Given the description of an element on the screen output the (x, y) to click on. 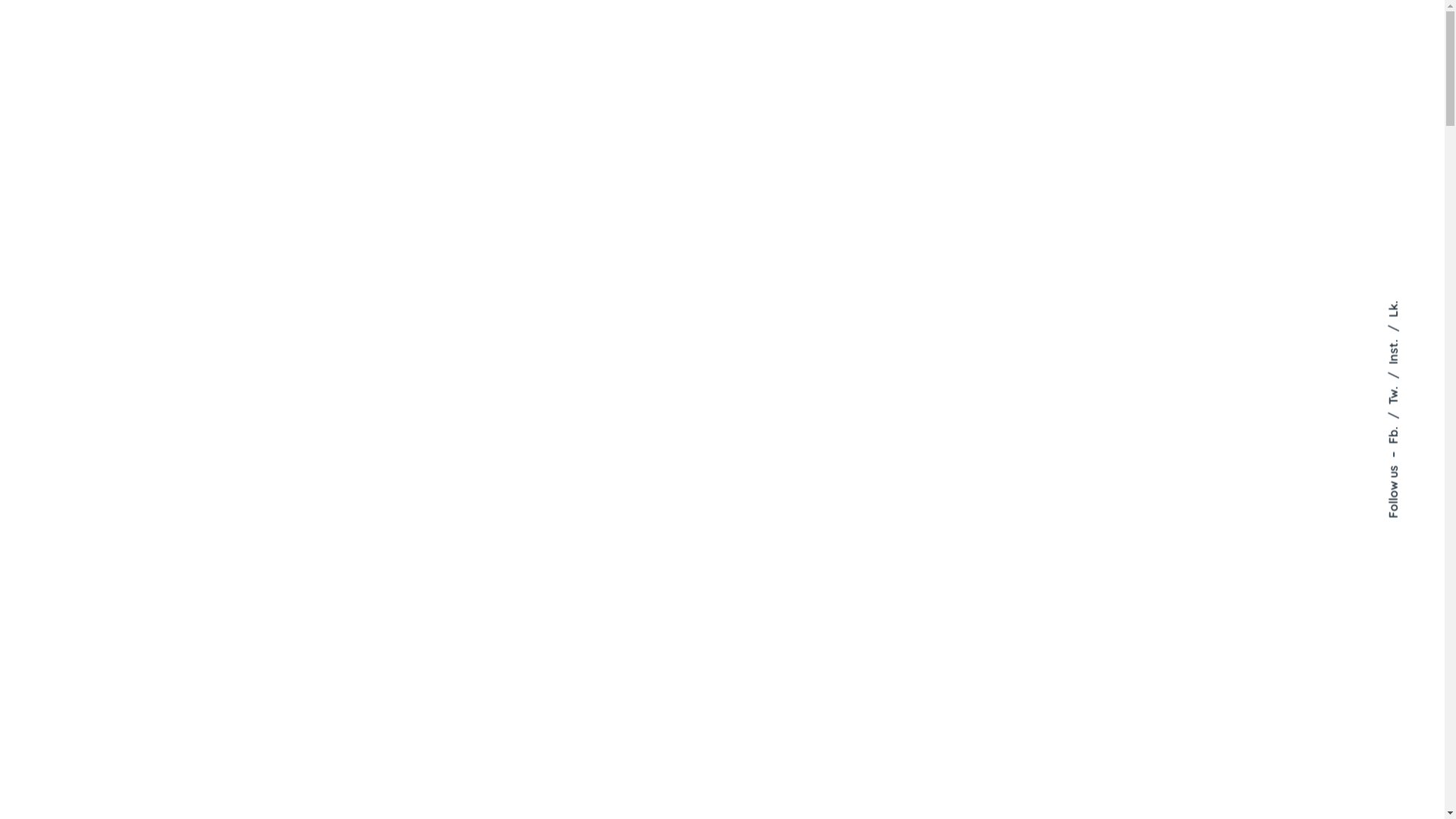
Inst. Element type: text (1404, 331)
Fb. Element type: text (1401, 419)
Lk. Element type: text (1393, 307)
Tw. Element type: text (1401, 378)
